Given the description of an element on the screen output the (x, y) to click on. 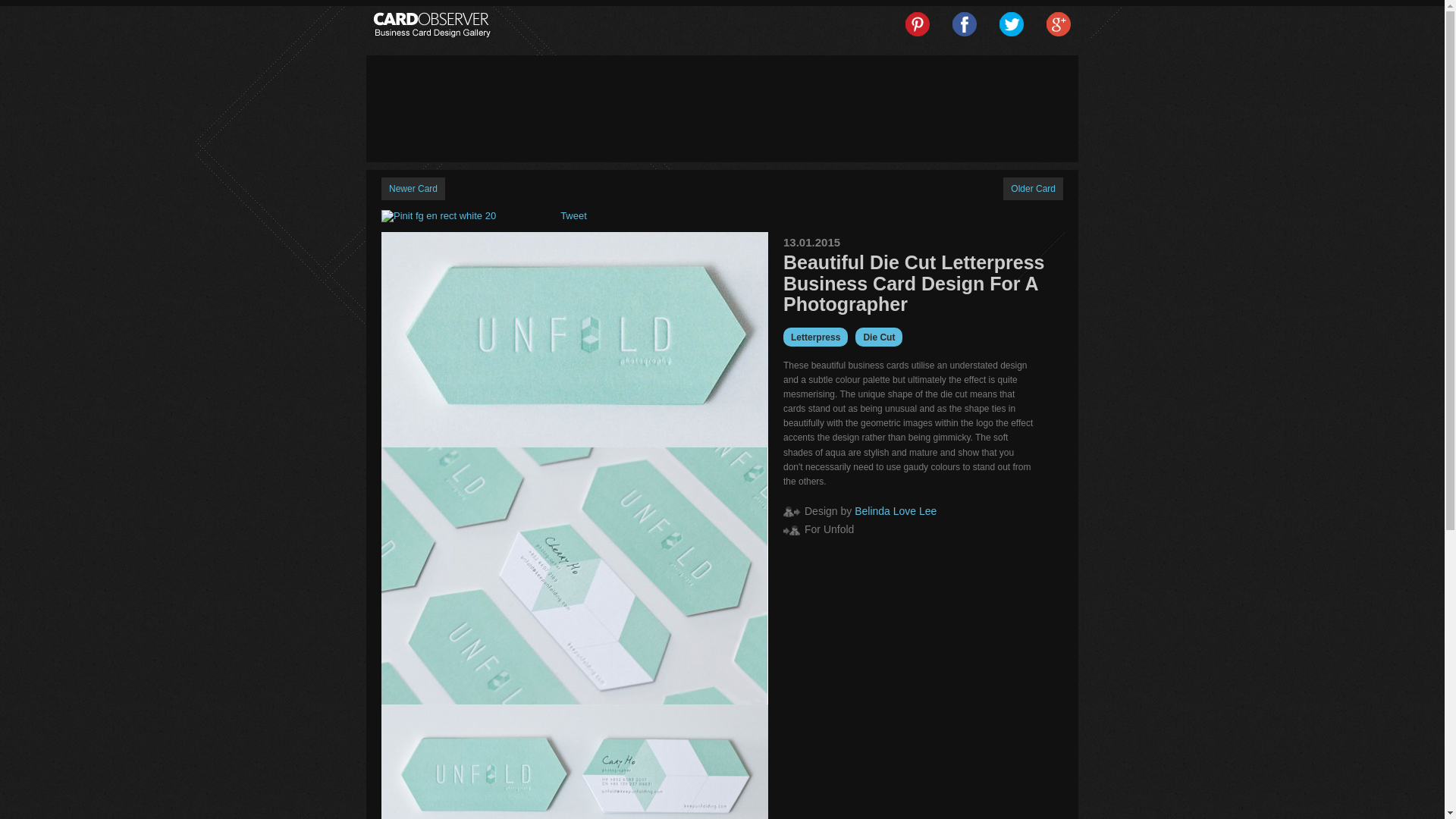
Belinda Love Lee (895, 510)
Tweet (573, 215)
Older Card (1032, 188)
Letterpress (815, 337)
Newer Card (413, 188)
Die Cut (879, 337)
